Given the description of an element on the screen output the (x, y) to click on. 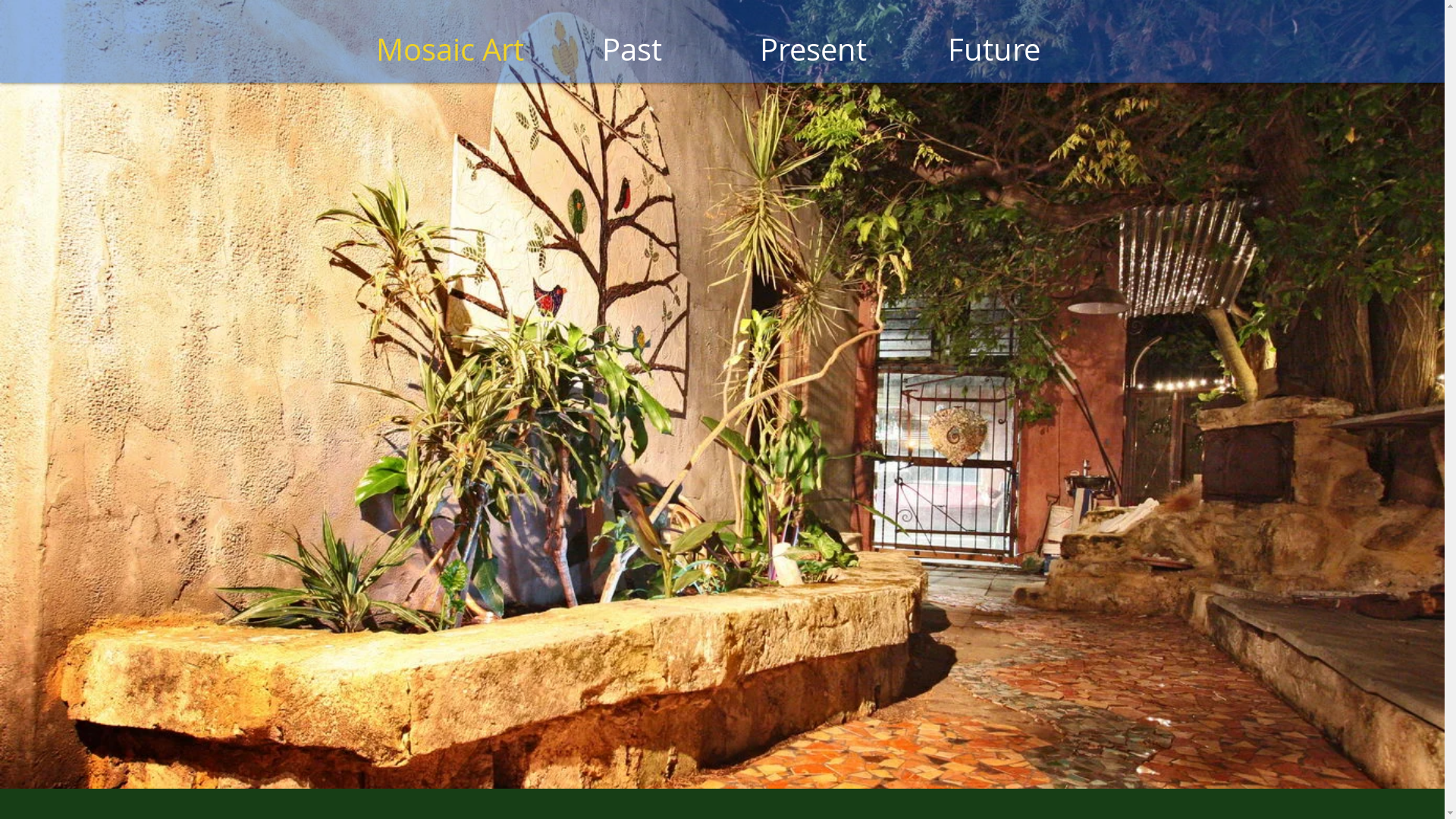
Past Element type: text (631, 48)
Future Element type: text (994, 48)
Mosaic Art Element type: text (450, 48)
Present Element type: text (812, 48)
